Given the description of an element on the screen output the (x, y) to click on. 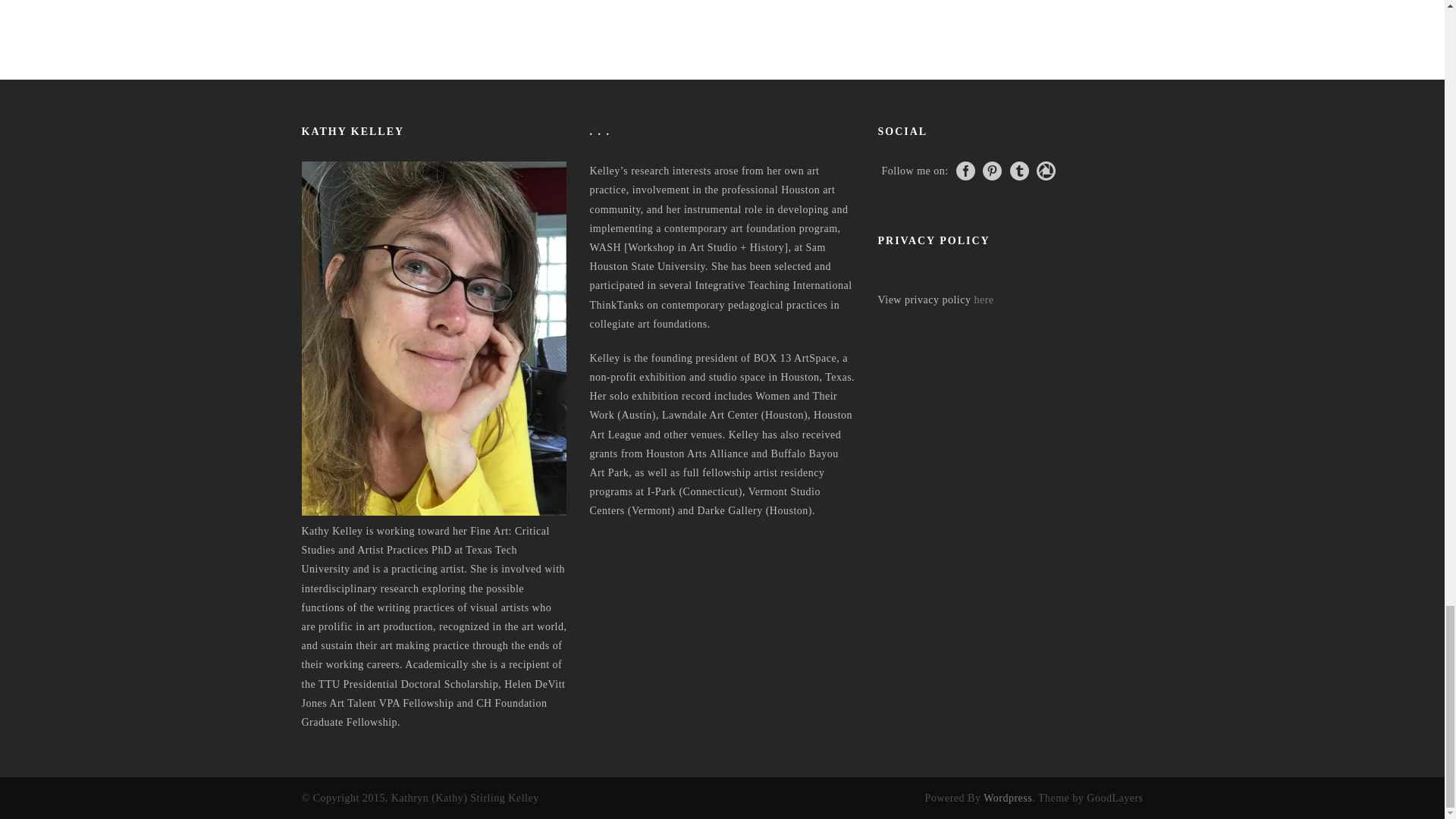
kathy kelley (434, 338)
